Given the description of an element on the screen output the (x, y) to click on. 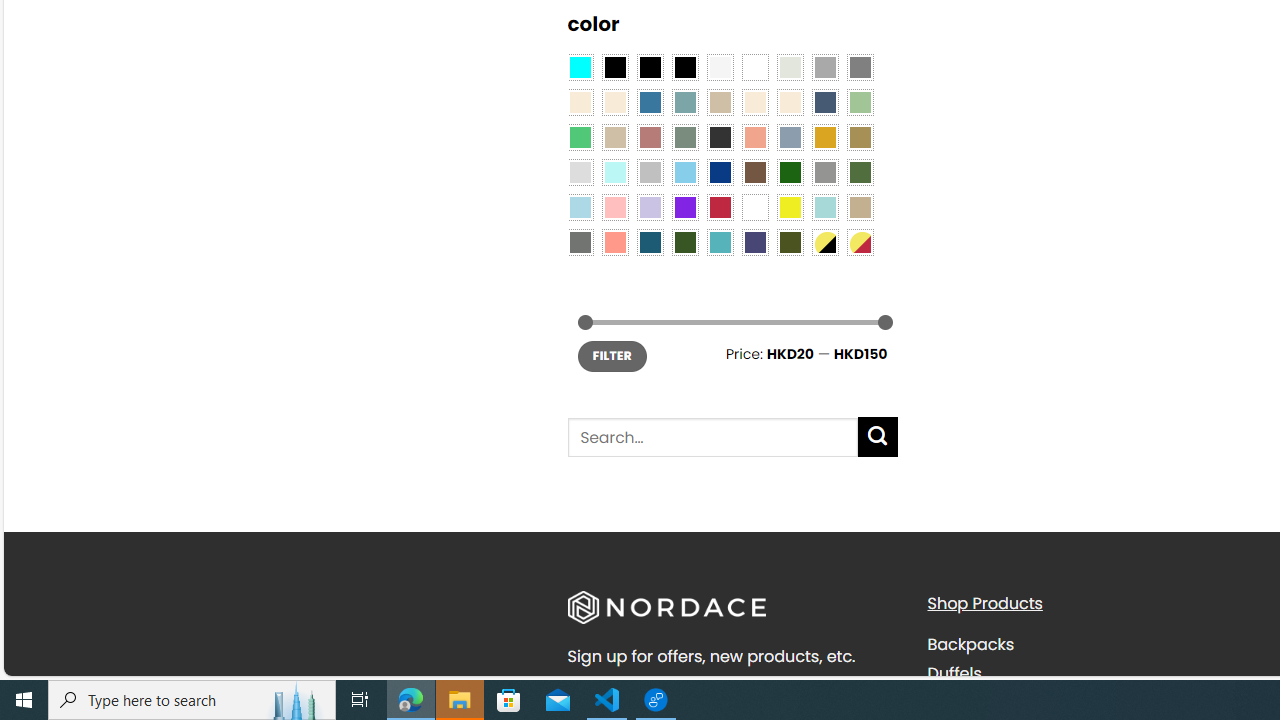
Backpacks (1092, 645)
Forest (684, 242)
Silver (650, 172)
Beige (579, 102)
Duffels (953, 672)
Green (859, 172)
Sky Blue (684, 172)
Light Taupe (614, 138)
Beige-Brown (614, 102)
Sage (684, 138)
Blue Sage (684, 102)
Charcoal (719, 138)
Caramel (755, 102)
Dark Green (789, 172)
Clear (755, 67)
